Given the description of an element on the screen output the (x, y) to click on. 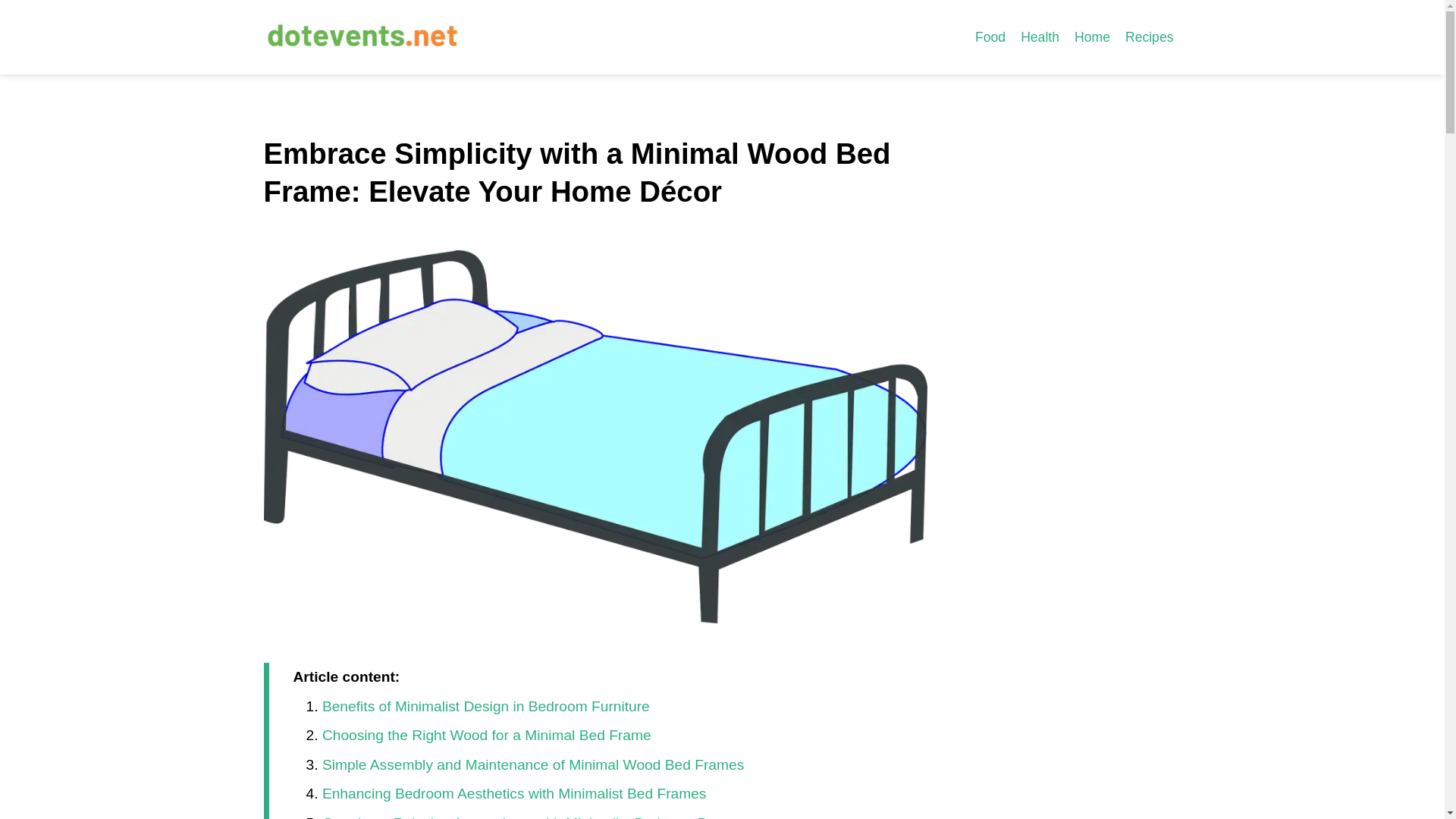
Home (1092, 36)
Simple Assembly and Maintenance of Minimal Wood Bed Frames (532, 764)
Food (990, 36)
Benefits of Minimalist Design in Bedroom Furniture (485, 706)
Choosing the Right Wood for a Minimal Bed Frame (485, 734)
Recipes (1149, 36)
Enhancing Bedroom Aesthetics with Minimalist Bed Frames (513, 793)
Health (1040, 36)
Creating a Relaxing Atmosphere with Minimalist Bedroom Decor (528, 816)
